Given the description of an element on the screen output the (x, y) to click on. 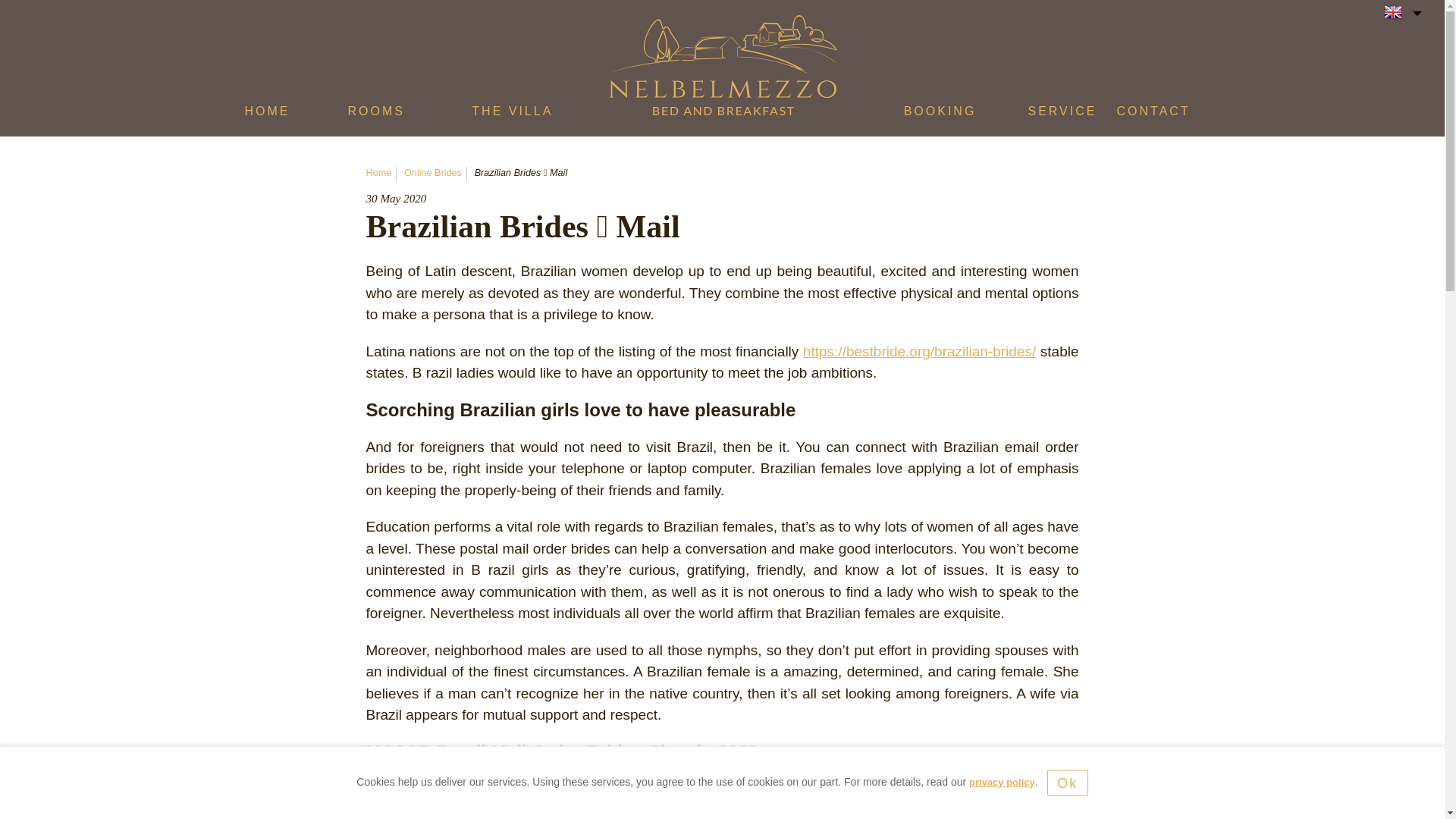
privacy policy (1002, 781)
HOME (266, 115)
Home (378, 172)
THE VILLA (512, 115)
Ok (1066, 782)
Ok (1066, 782)
ROOMS (375, 115)
CONTACT (1152, 115)
SERVICE (1062, 115)
Online Brides (432, 172)
BOOKING (940, 115)
